Given the description of an element on the screen output the (x, y) to click on. 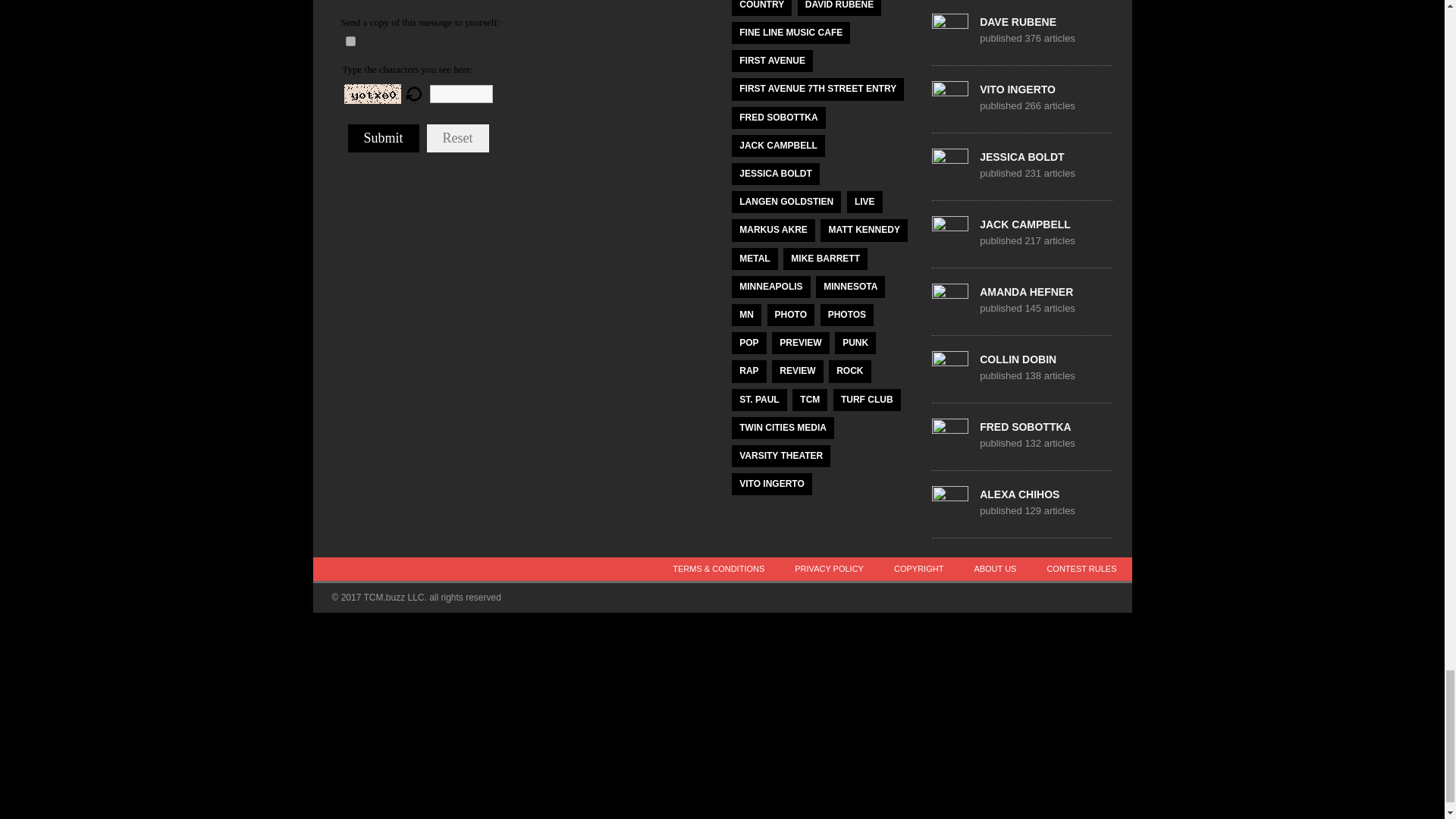
on (350, 40)
